Given the description of an element on the screen output the (x, y) to click on. 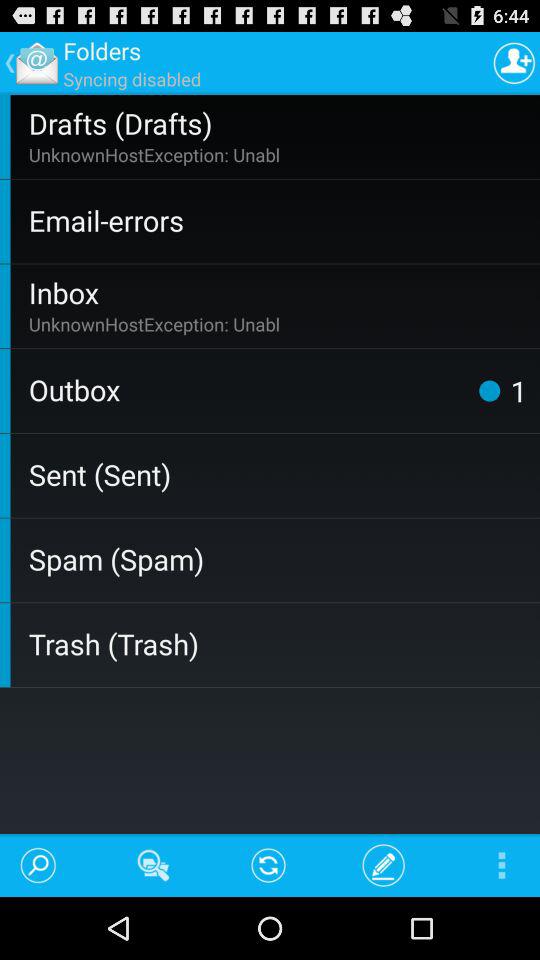
turn off the app below trash (trash) app (153, 864)
